Given the description of an element on the screen output the (x, y) to click on. 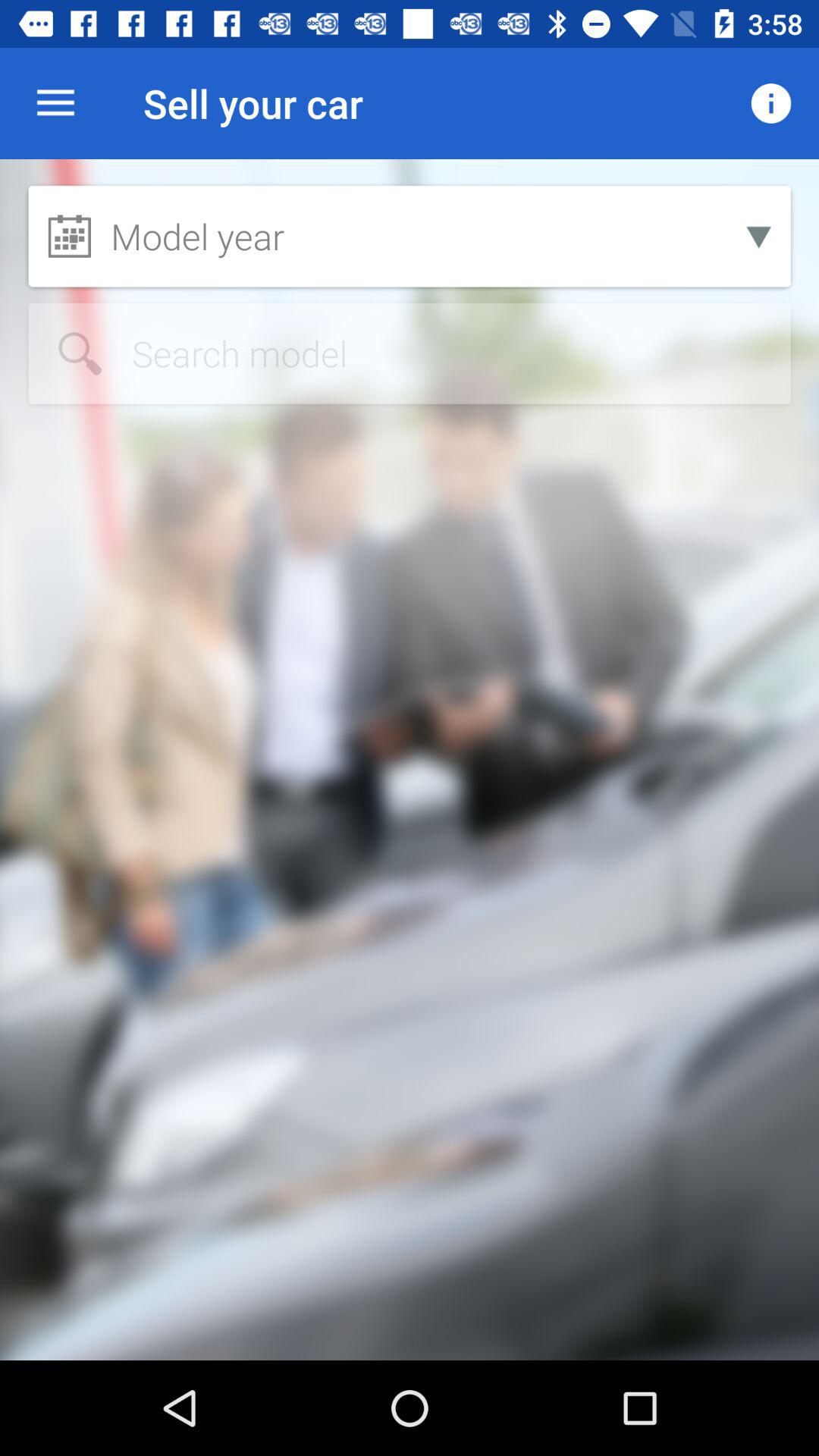
etc (409, 353)
